Given the description of an element on the screen output the (x, y) to click on. 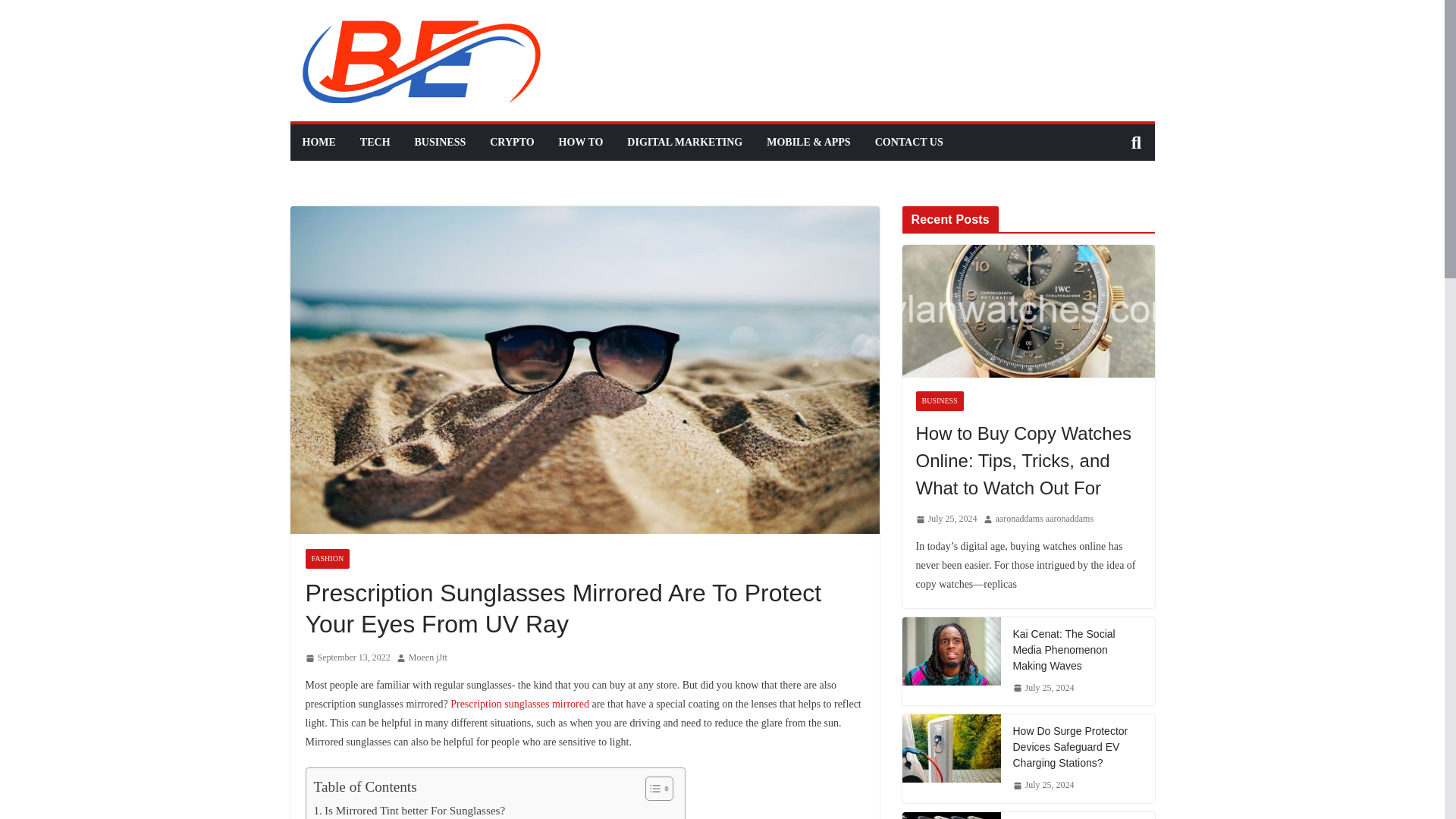
Is Mirrored Tint better For Sunglasses? (409, 810)
Prescription sunglasses mirrored (519, 704)
TECH (374, 142)
HOW TO (581, 142)
CONTACT US (909, 142)
BUSINESS (939, 401)
FASHION (326, 558)
Is Mirrored Tint better For Sunglasses? (409, 810)
September 13, 2022 (347, 658)
Moeen jJtt (427, 658)
BUSINESS (439, 142)
5:19 am (347, 658)
Moeen jJtt (427, 658)
DIGITAL MARKETING (684, 142)
